Given the description of an element on the screen output the (x, y) to click on. 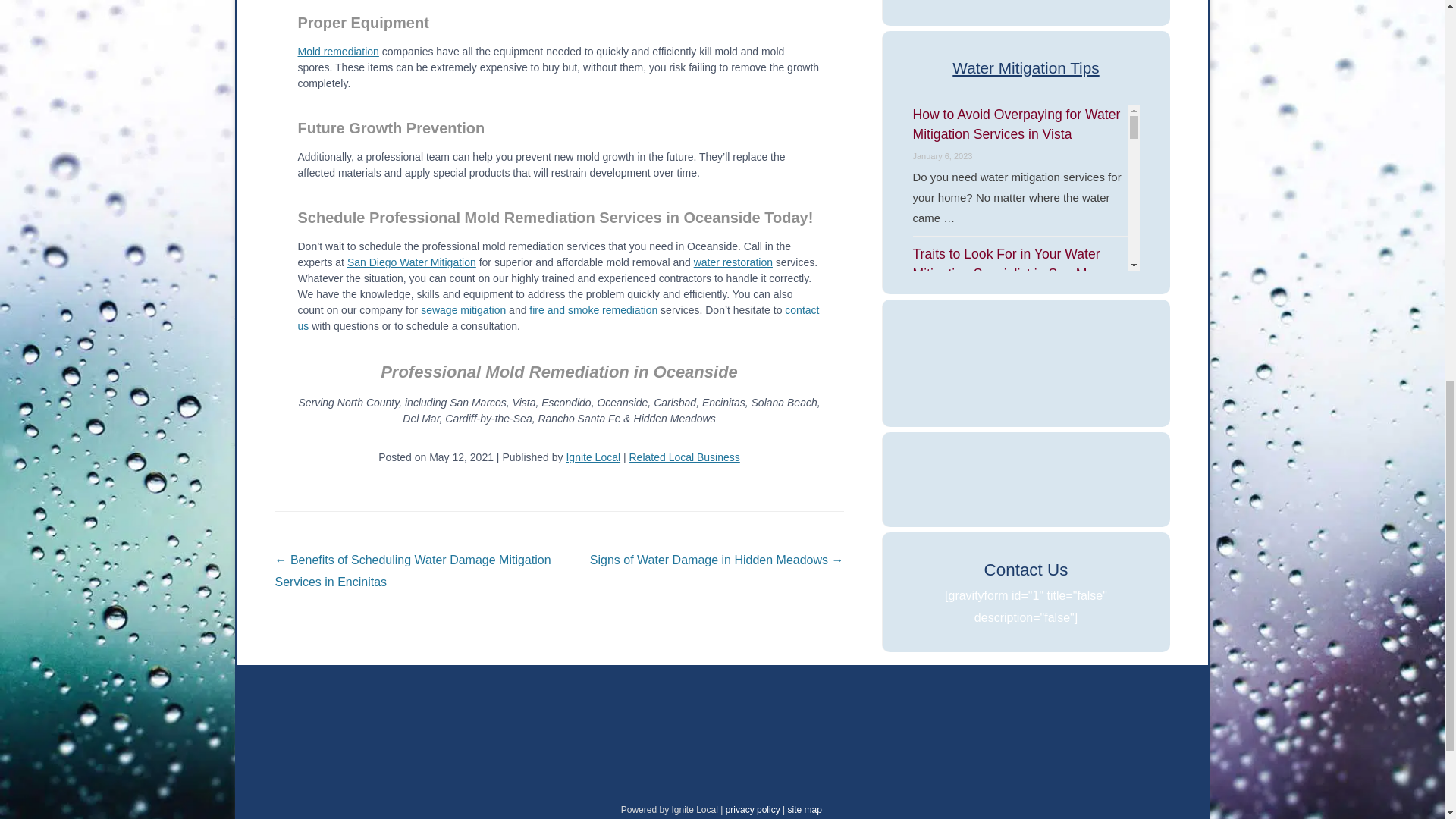
sewage mitigation (462, 309)
Ignite Local (593, 457)
San Diego Water Mitigation (411, 262)
Related Local Business (683, 457)
contact us (557, 317)
Mold remediation (337, 51)
Water Mitigation Tips (1026, 67)
fire and smoke remediation (593, 309)
water restoration (733, 262)
